Given the description of an element on the screen output the (x, y) to click on. 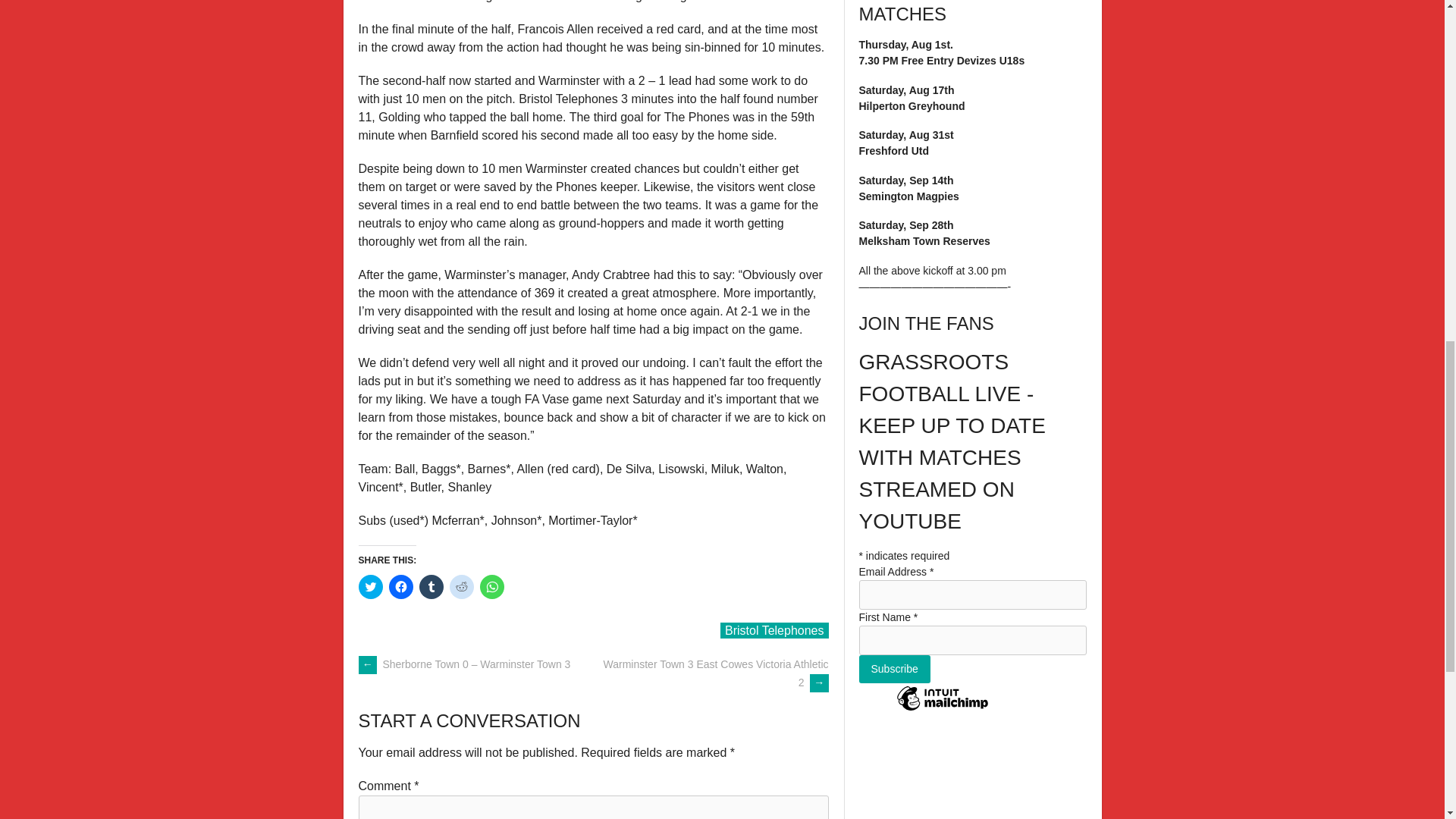
Click to share on Twitter (369, 586)
Subscribe (894, 669)
Click to share on Tumblr (430, 586)
Click to share on Reddit (460, 586)
Click to share on WhatsApp (491, 586)
Click to share on Facebook (400, 586)
Bristol Telephones (774, 630)
Subscribe (894, 669)
Mailchimp - email marketing made easy and fun (942, 709)
